Given the description of an element on the screen output the (x, y) to click on. 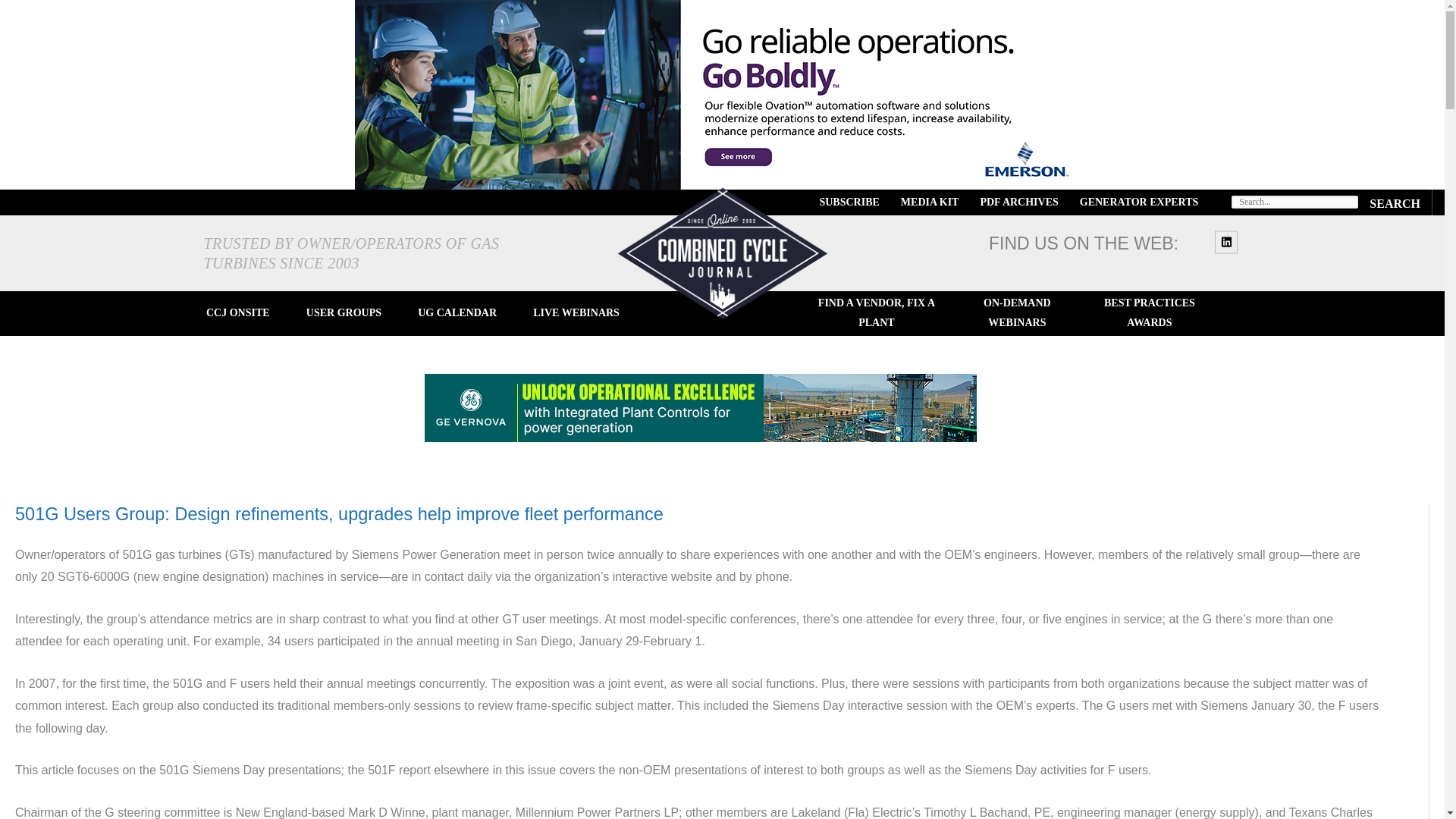
USER GROUPS (343, 313)
Search (1394, 202)
SUBSCRIBE (848, 201)
Search (1394, 202)
FIND A VENDOR, FIX A PLANT (876, 313)
BEST PRACTICES AWARDS (1148, 313)
MEDIA KIT (929, 201)
CCJ ONSITE (237, 313)
LIVE WEBINARS (577, 313)
Search (1394, 202)
